Given the description of an element on the screen output the (x, y) to click on. 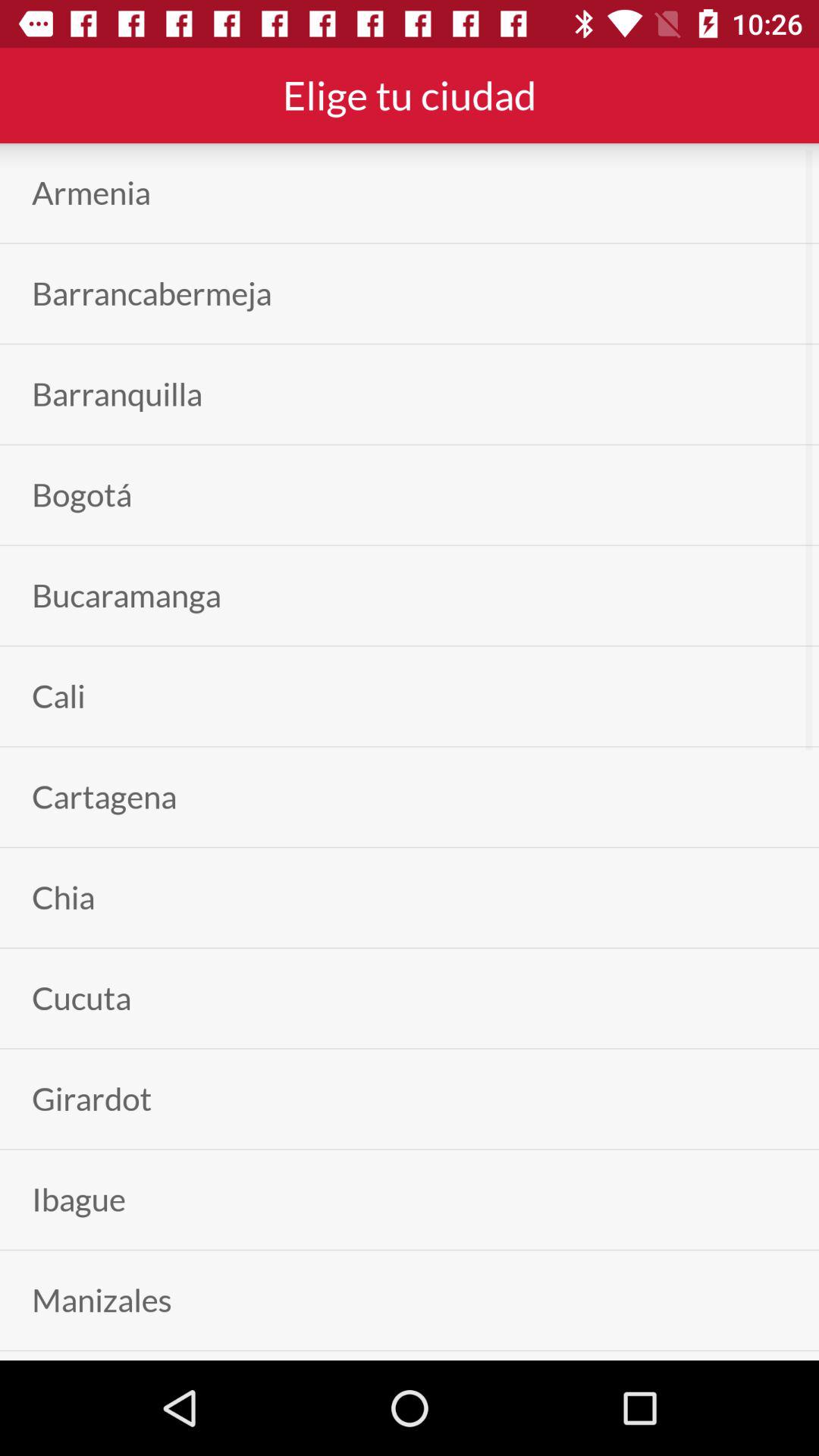
scroll to cucuta icon (81, 998)
